Given the description of an element on the screen output the (x, y) to click on. 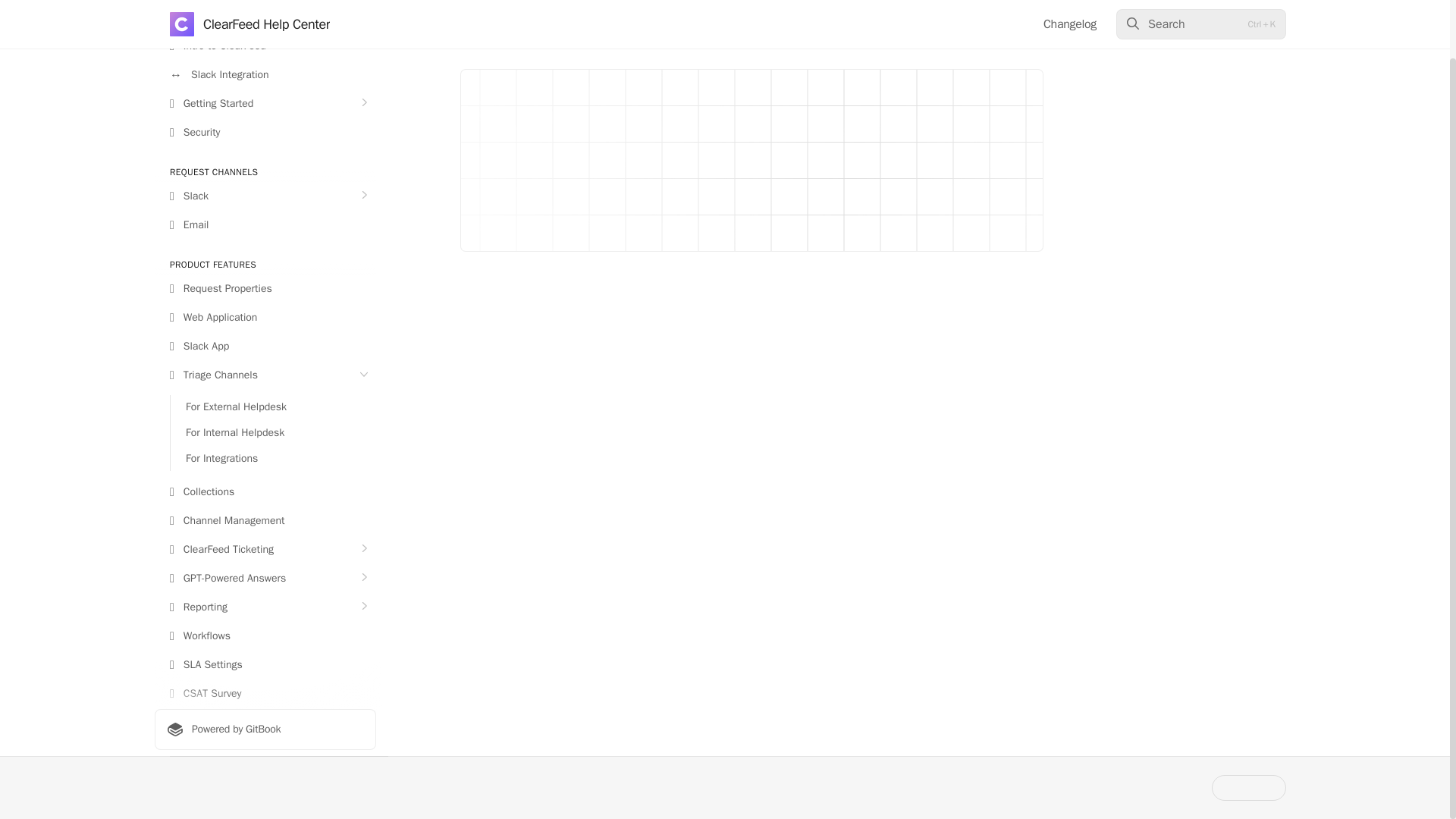
For External Helpdesk (272, 406)
For Internal Helpdesk (272, 432)
For Integrations (272, 458)
